Given the description of an element on the screen output the (x, y) to click on. 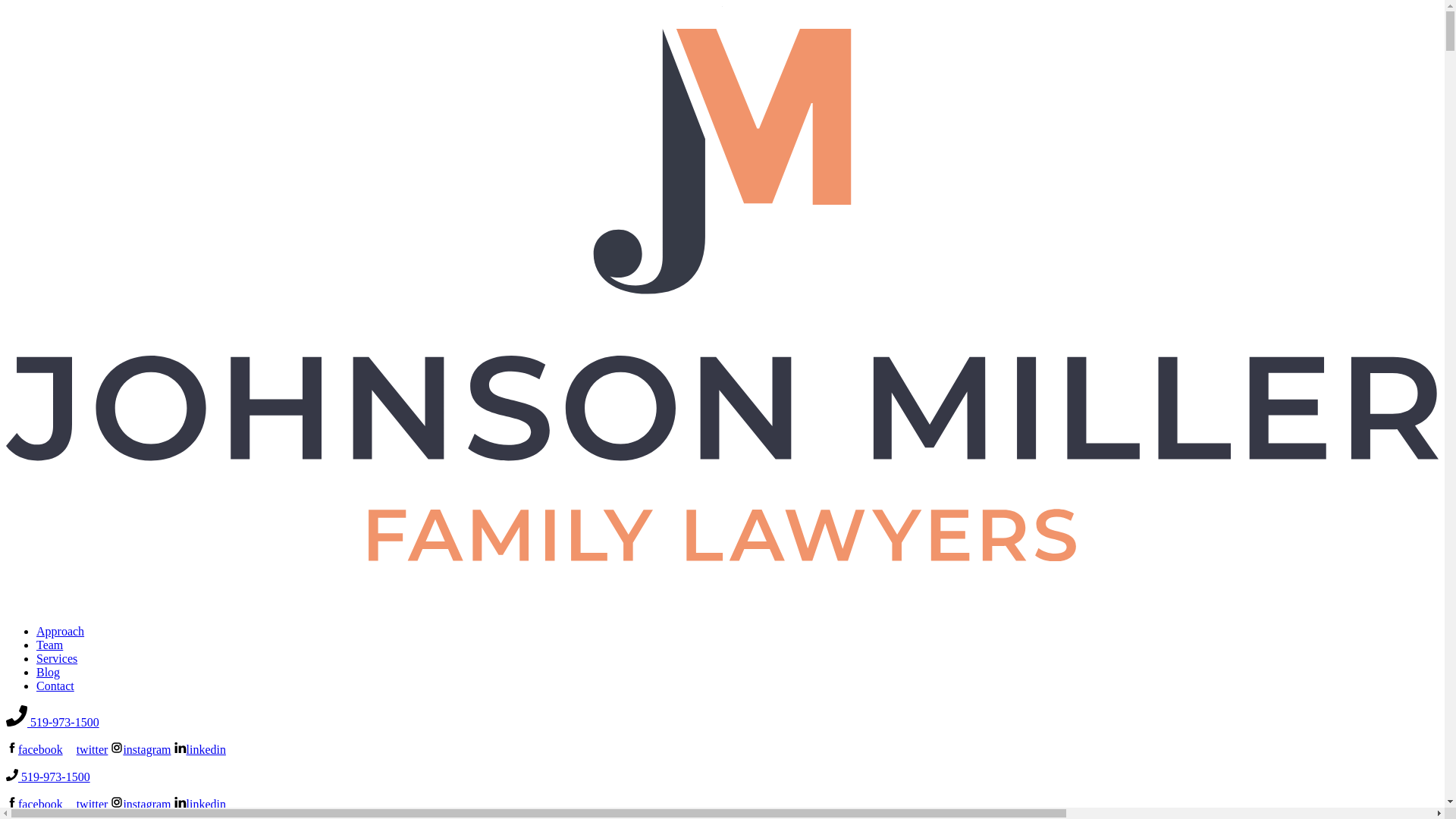
519-973-1500 (52, 721)
Team (49, 644)
Services (56, 658)
Approach (60, 631)
Blog (47, 671)
instagram (140, 803)
twitter (86, 803)
519-973-1500 (47, 776)
facebook (33, 803)
Contact (55, 685)
